Given the description of an element on the screen output the (x, y) to click on. 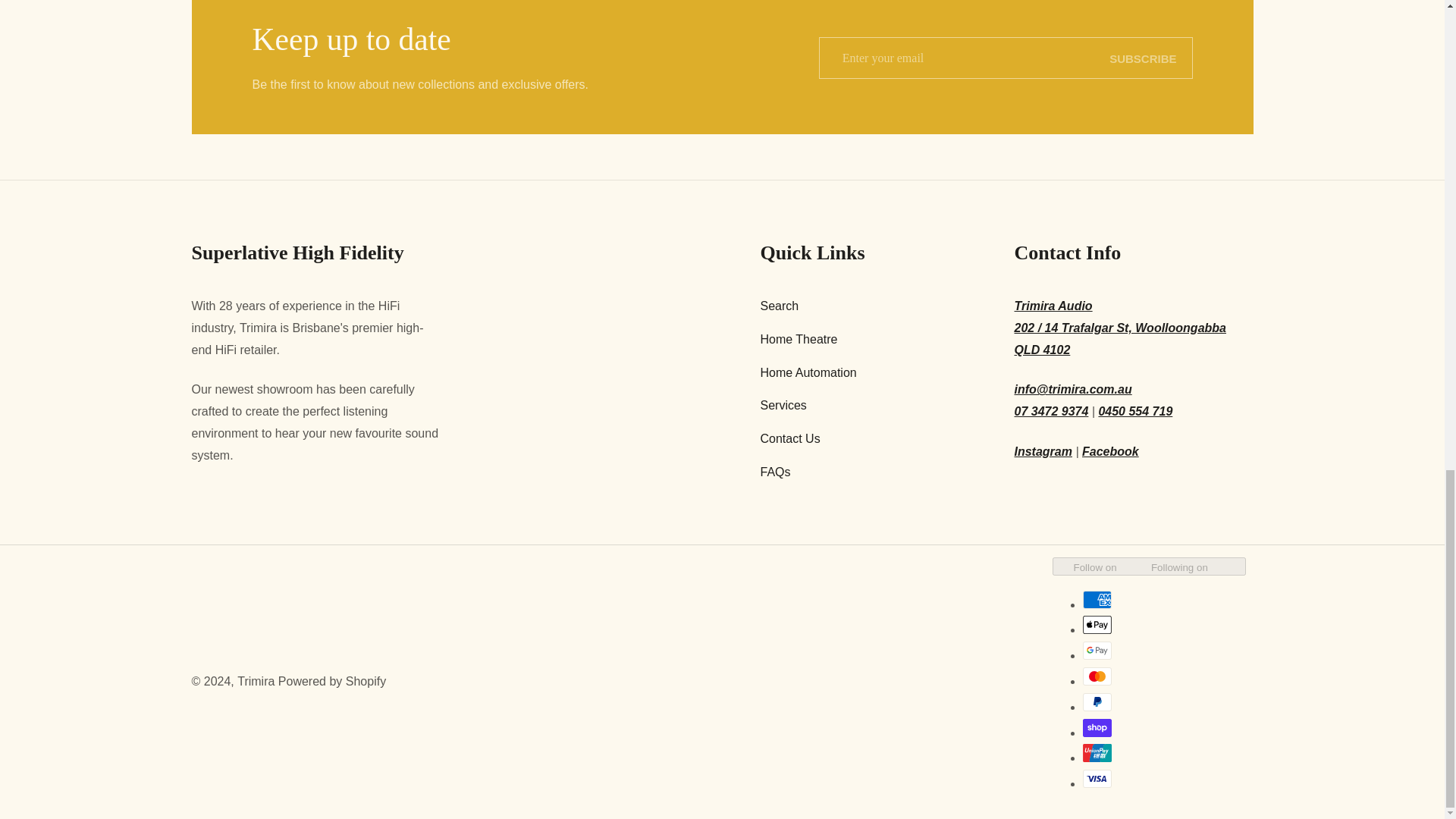
tel: 045-055-4719 (1134, 412)
tel: 073-472-9374 (1051, 412)
Link to Trimira Audio Brisbane on Google Maps (1133, 328)
